Given the description of an element on the screen output the (x, y) to click on. 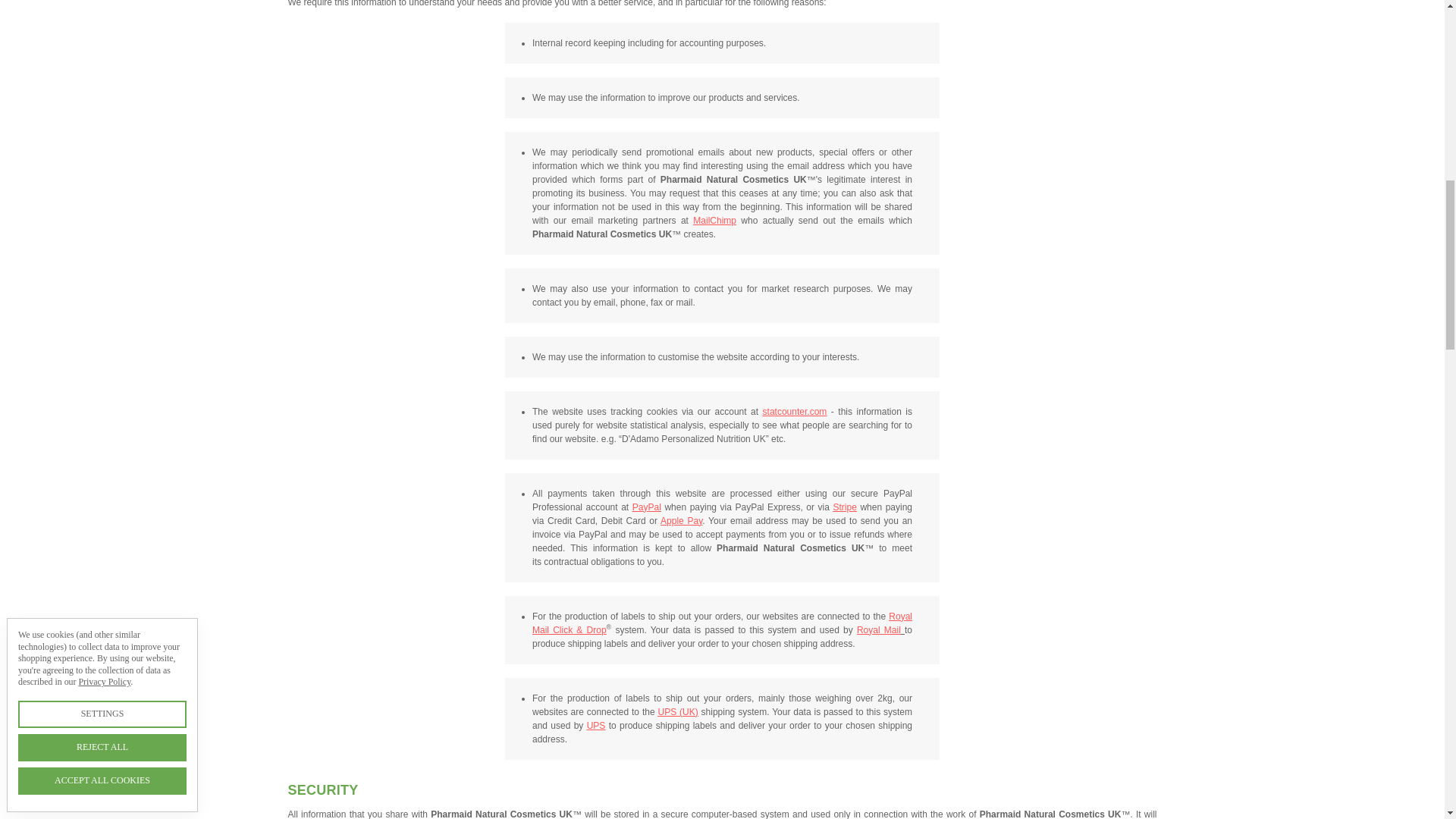
StaCounter (794, 411)
PayPal (646, 507)
Apple Pay (681, 520)
UPS (595, 725)
Stripe - Online payment processing for internet business (844, 507)
statcounter.com (794, 411)
Stripe (844, 507)
Royal Mail (879, 629)
PayPal (646, 507)
Royal Mail Group Ltd UK (879, 629)
MailChimp (714, 220)
MailChimp (714, 220)
UPS United Kingdom Privacy Notice (677, 711)
